Given the description of an element on the screen output the (x, y) to click on. 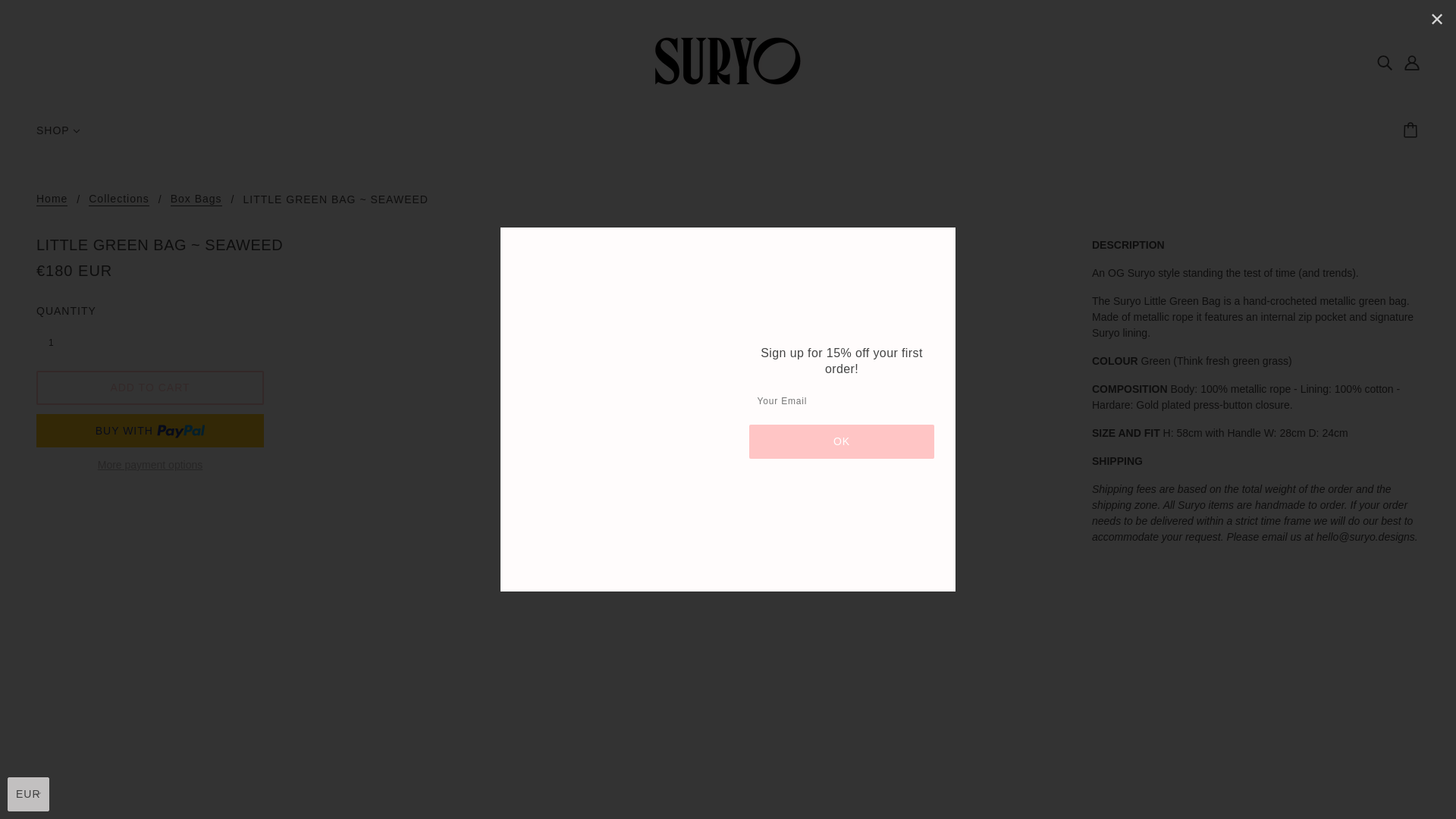
SHOP (58, 136)
SURYO.DESIGN (727, 61)
1 (58, 342)
Ok (841, 441)
Home (51, 199)
